Given the description of an element on the screen output the (x, y) to click on. 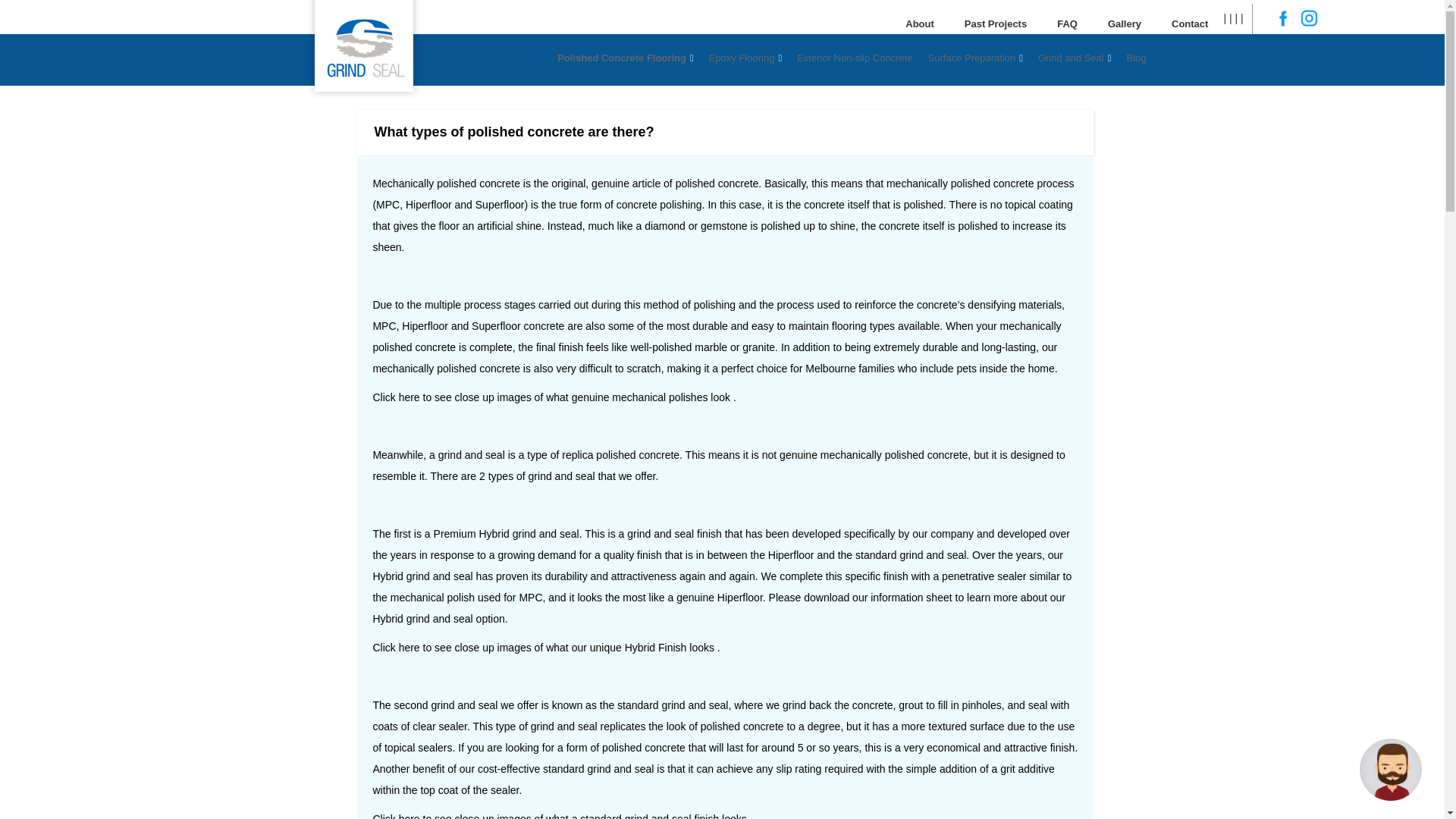
Polished Concrete Flooring (625, 58)
FAQ (1067, 24)
Grind and Seal (1074, 58)
Surface Preparation (975, 58)
Exterior Non-slip Concrete (854, 58)
Epoxy Flooring (745, 58)
About (919, 24)
Contact (1189, 24)
Grind and Seal (96, 29)
Gallery (1124, 24)
Past Projects (995, 24)
